Given the description of an element on the screen output the (x, y) to click on. 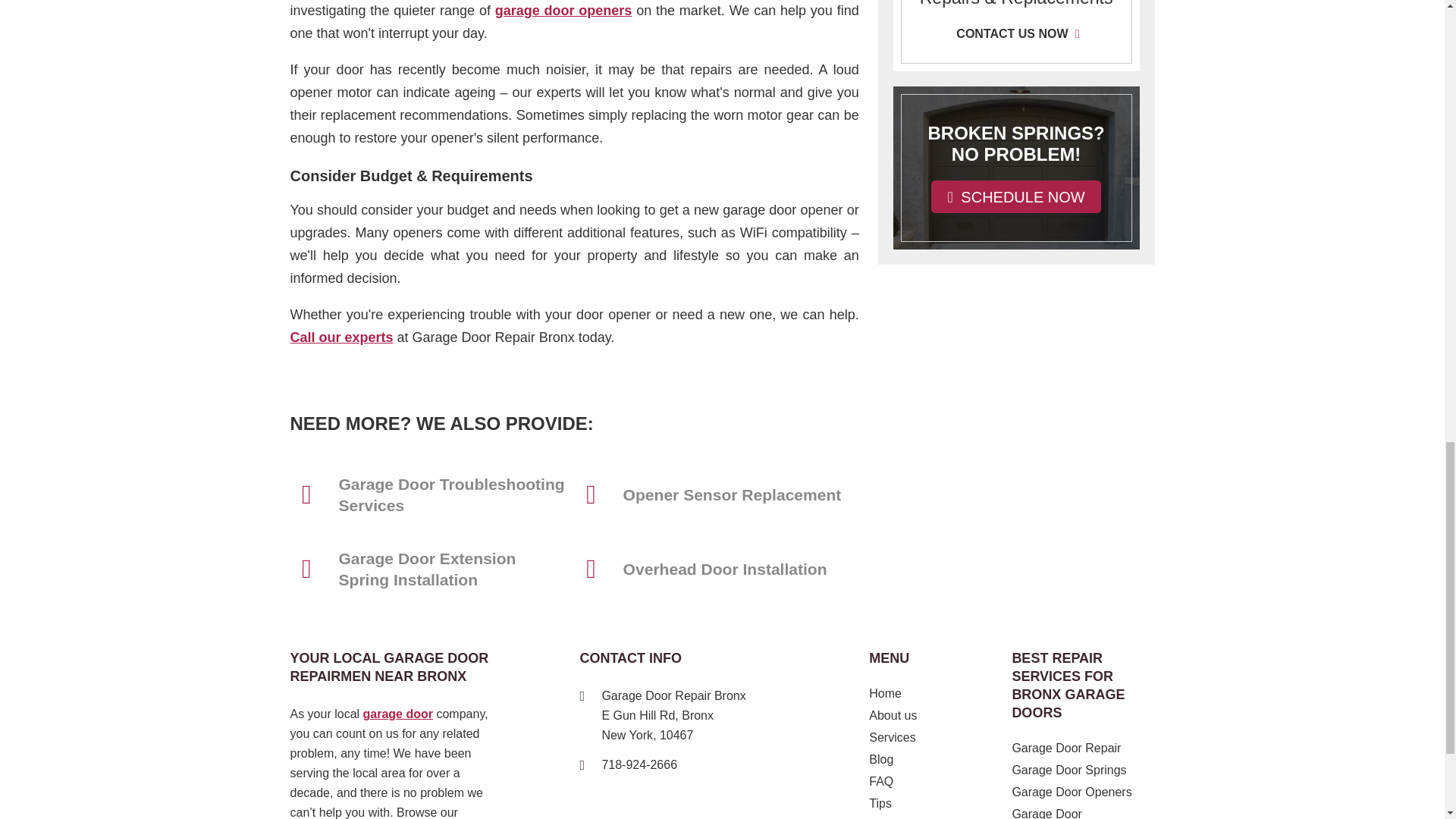
garage door openers (563, 10)
garage door (397, 713)
Call our experts (341, 337)
CONTACT US NOW (1015, 33)
Our team will solve all your opener related problems (341, 337)
SCHEDULE NOW (1015, 196)
Garage door opener (563, 10)
Garage door repair services (397, 713)
